Given the description of an element on the screen output the (x, y) to click on. 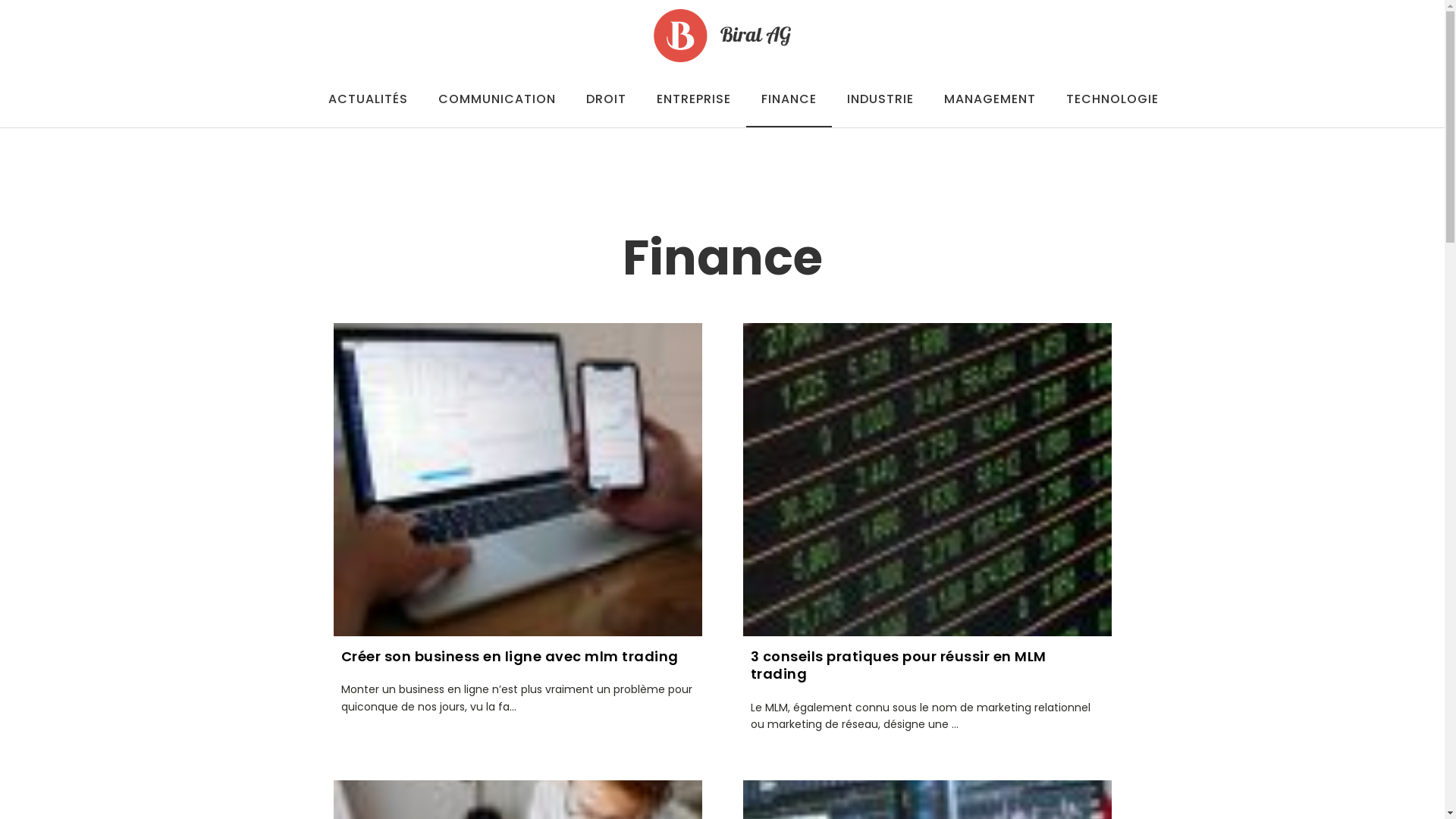
COMMUNICATION Element type: text (497, 99)
INDUSTRIE Element type: text (879, 99)
DROIT Element type: text (605, 99)
Finance Element type: text (721, 257)
TECHNOLOGIE Element type: text (1112, 99)
MANAGEMENT Element type: text (989, 99)
ENTREPRISE Element type: text (693, 99)
FINANCE Element type: text (788, 99)
